Given the description of an element on the screen output the (x, y) to click on. 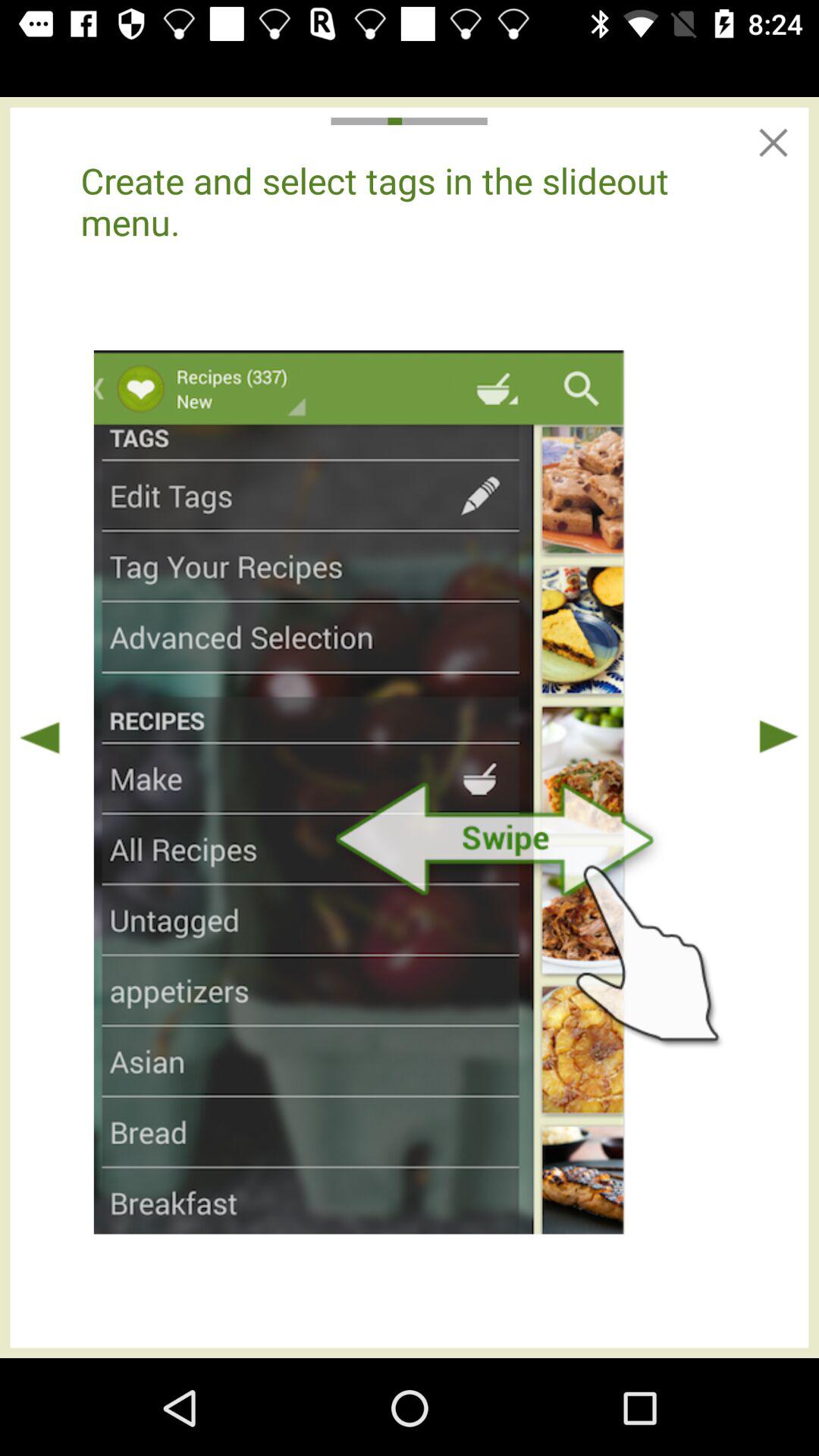
next option (778, 736)
